Given the description of an element on the screen output the (x, y) to click on. 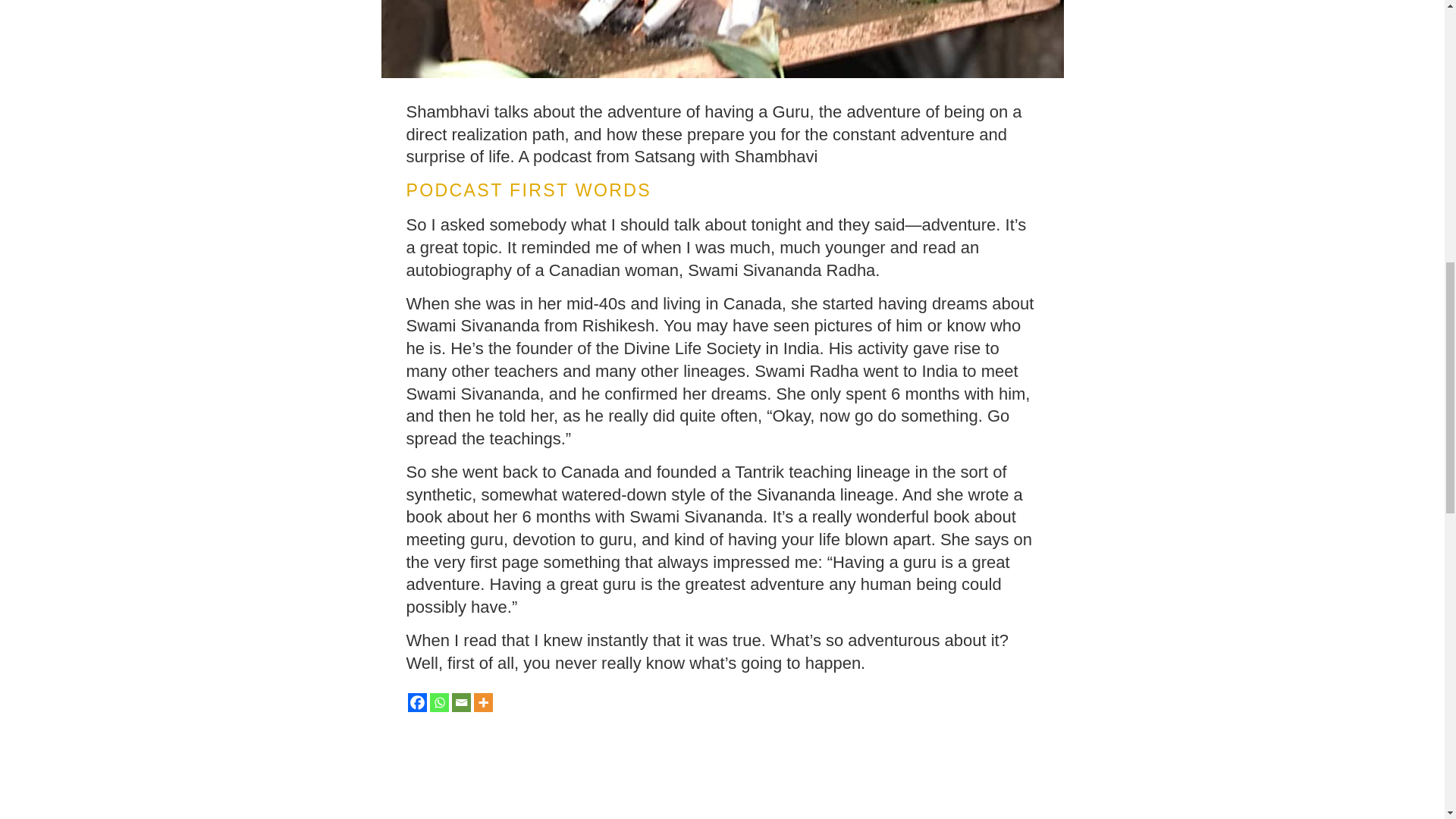
Facebook (416, 701)
More (482, 701)
Whatsapp (438, 701)
Email (460, 701)
